Given the description of an element on the screen output the (x, y) to click on. 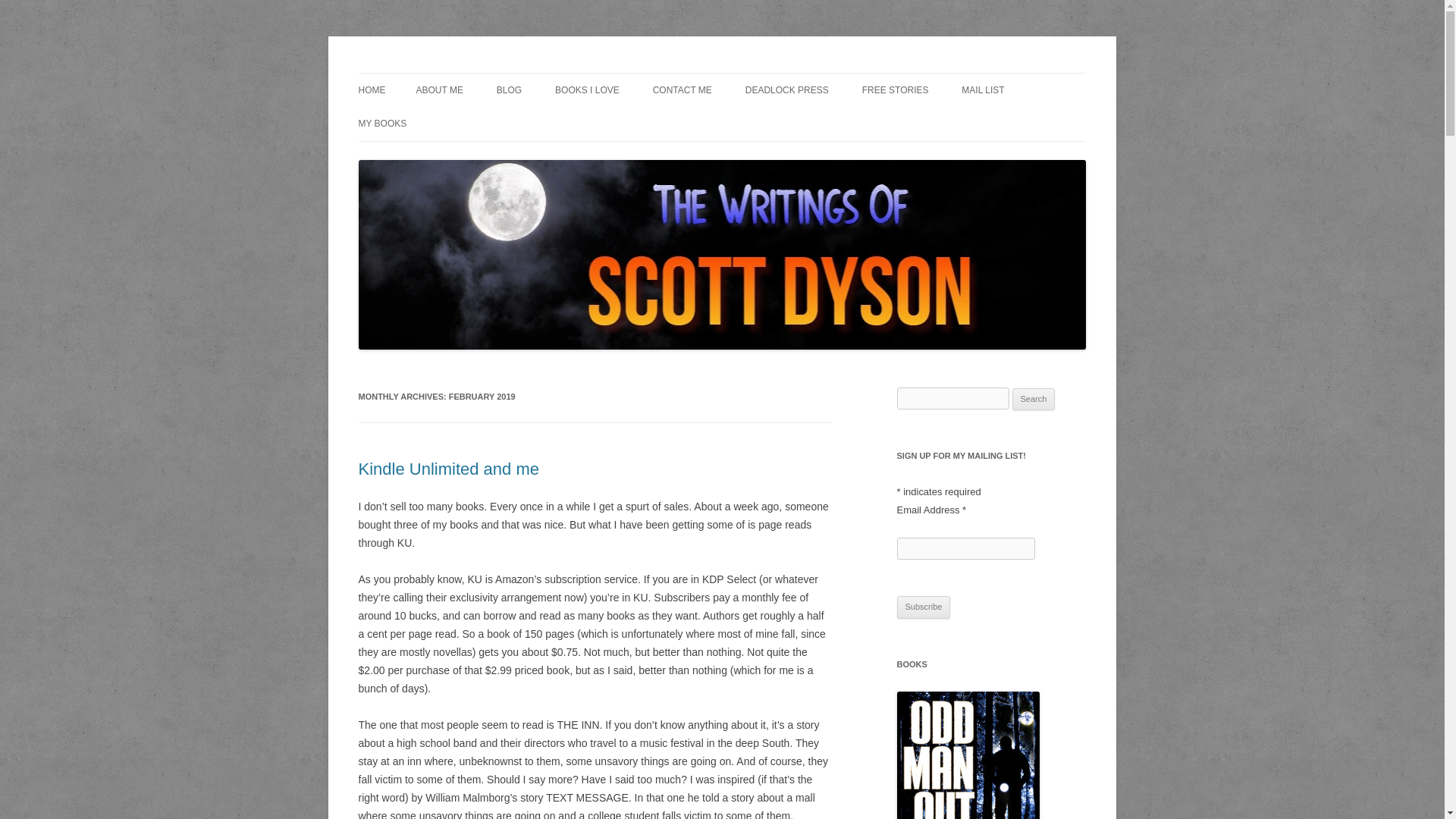
MY BOOKS (382, 123)
Search (1033, 399)
Subscribe (923, 607)
Author Scott Dyson (450, 72)
Subscribe (923, 607)
BOOKS I LOVE (587, 90)
Search (1033, 399)
ABOUT ME (438, 90)
FREE STORIES (894, 90)
DEADLOCK PRESS (786, 90)
CONTACT ME (681, 90)
Kindle Unlimited and me (448, 468)
MAIL LIST (982, 90)
